Given the description of an element on the screen output the (x, y) to click on. 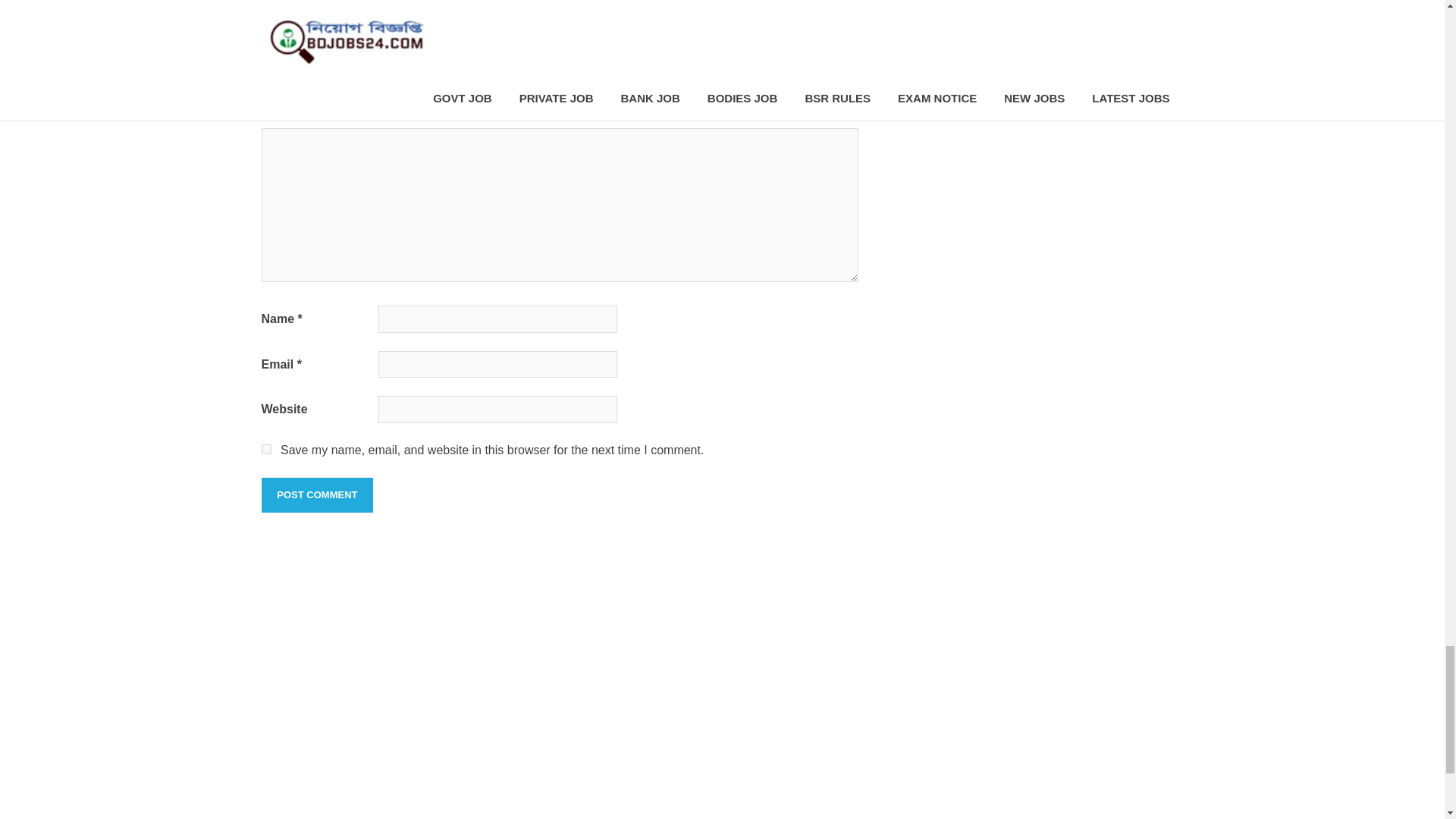
Post Comment (316, 494)
yes (265, 449)
